Given the description of an element on the screen output the (x, y) to click on. 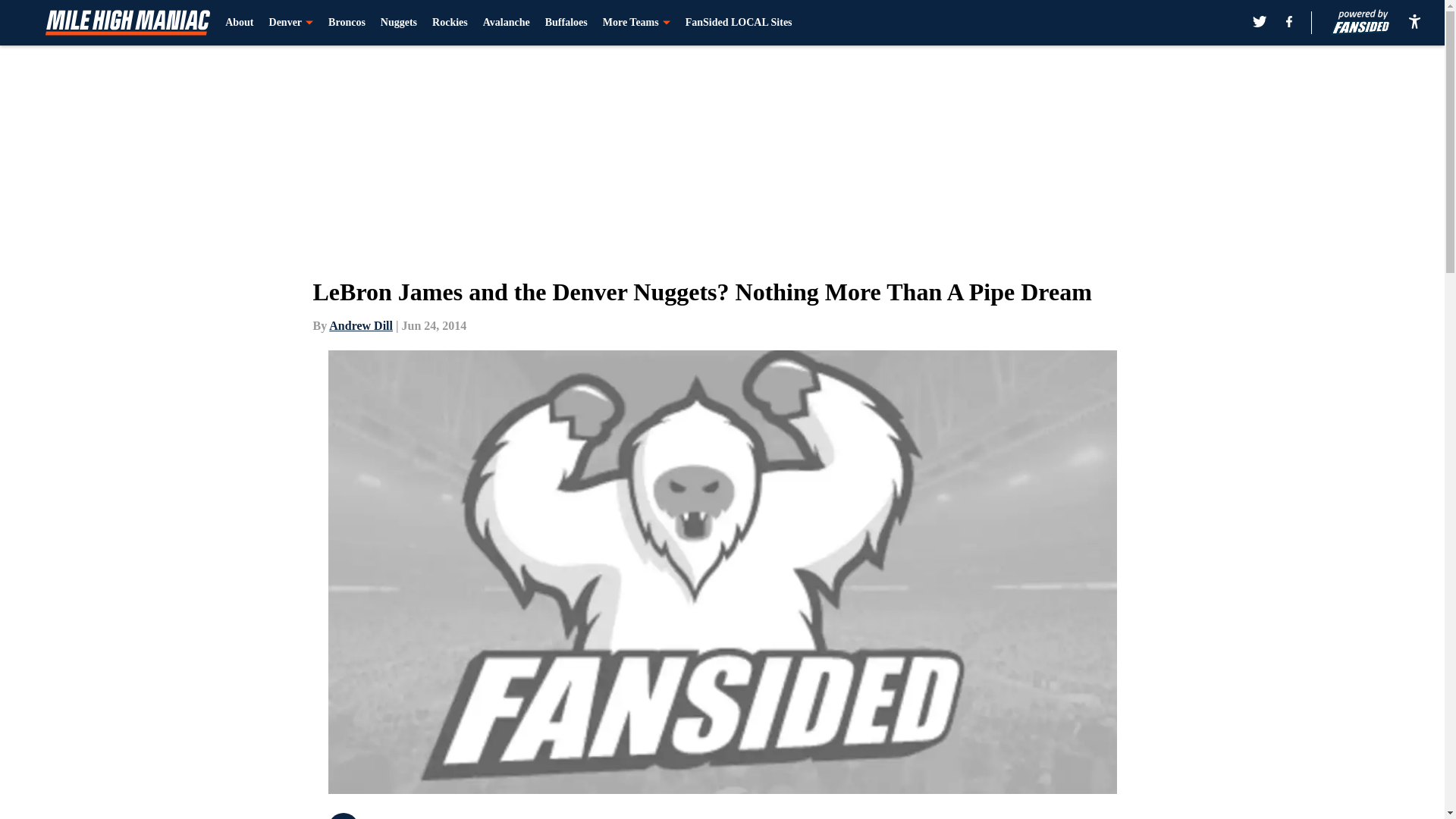
Nuggets (398, 22)
Broncos (347, 22)
FanSided LOCAL Sites (738, 22)
Avalanche (506, 22)
Andrew Dill (361, 325)
Buffaloes (566, 22)
About (239, 22)
Rockies (449, 22)
